Given the description of an element on the screen output the (x, y) to click on. 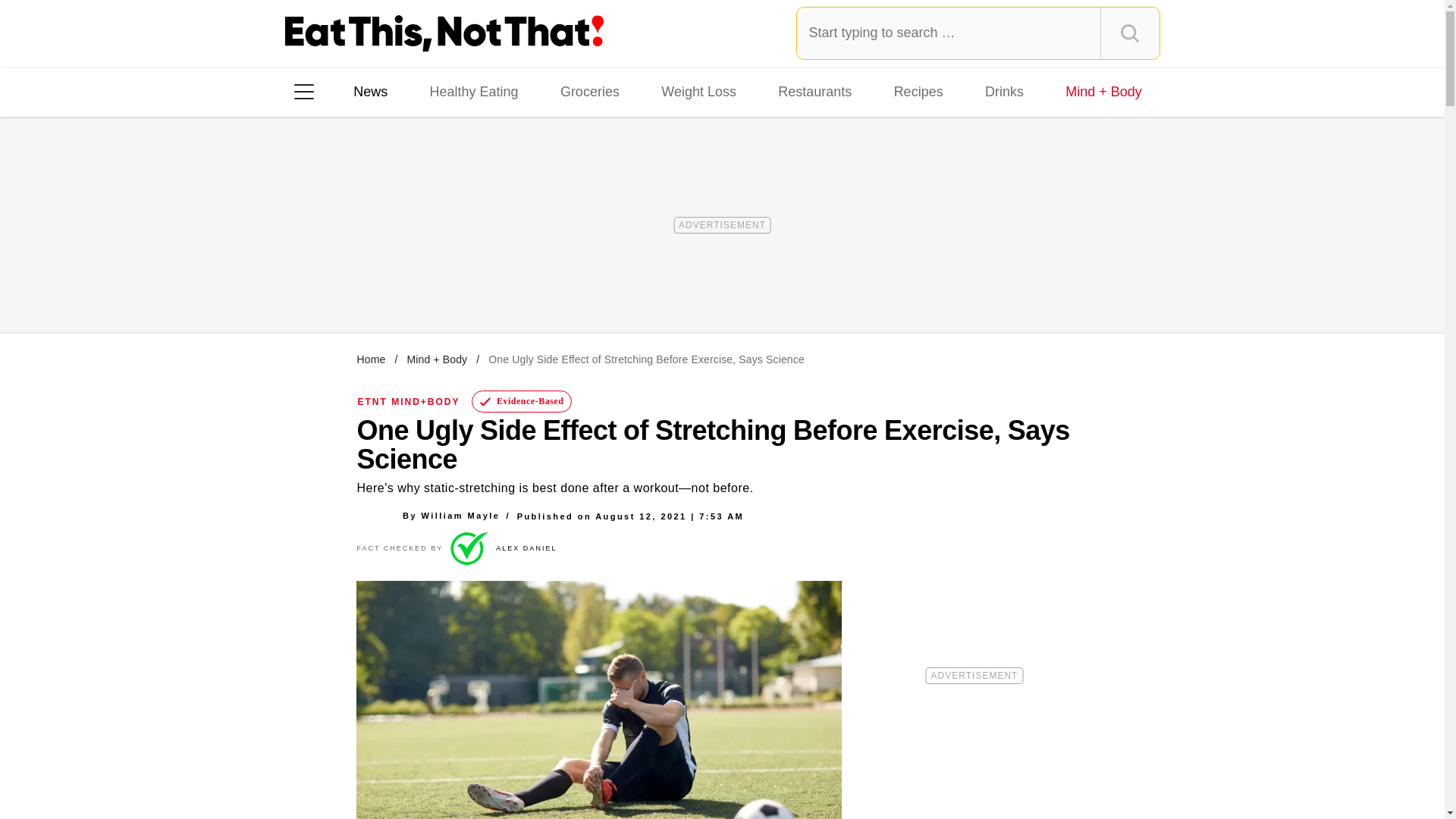
Recipes (918, 91)
Drinks (1003, 91)
News (370, 91)
Eat This Not That Homepage (444, 33)
Restaurants (814, 91)
Healthy Eating (473, 91)
TikTok (399, 287)
Facebook (314, 287)
Instagram (357, 287)
Pinterest (443, 287)
Pinterest (443, 287)
Groceries (590, 91)
Evidence-Based (521, 401)
Home (370, 358)
Type and press Enter to search (978, 32)
